Given the description of an element on the screen output the (x, y) to click on. 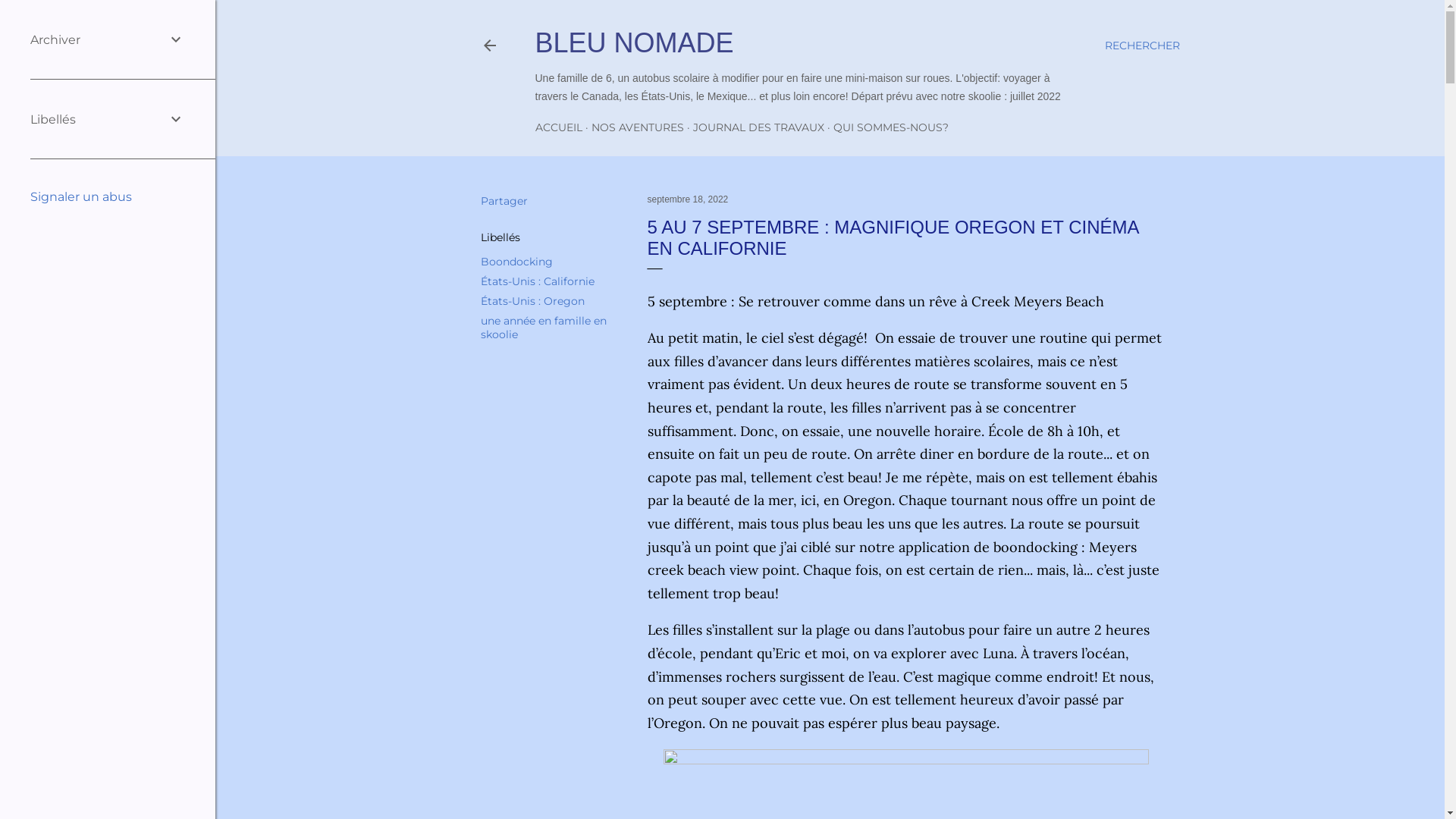
Boondocking Element type: text (516, 261)
Partager Element type: text (503, 200)
septembre 18, 2022 Element type: text (687, 199)
NOS AVENTURES Element type: text (637, 127)
Signaler un abus Element type: text (80, 196)
ACCUEIL Element type: text (558, 127)
BLEU NOMADE Element type: text (634, 42)
QUI SOMMES-NOUS? Element type: text (889, 127)
RECHERCHER Element type: text (1141, 45)
JOURNAL DES TRAVAUX Element type: text (758, 127)
